Given the description of an element on the screen output the (x, y) to click on. 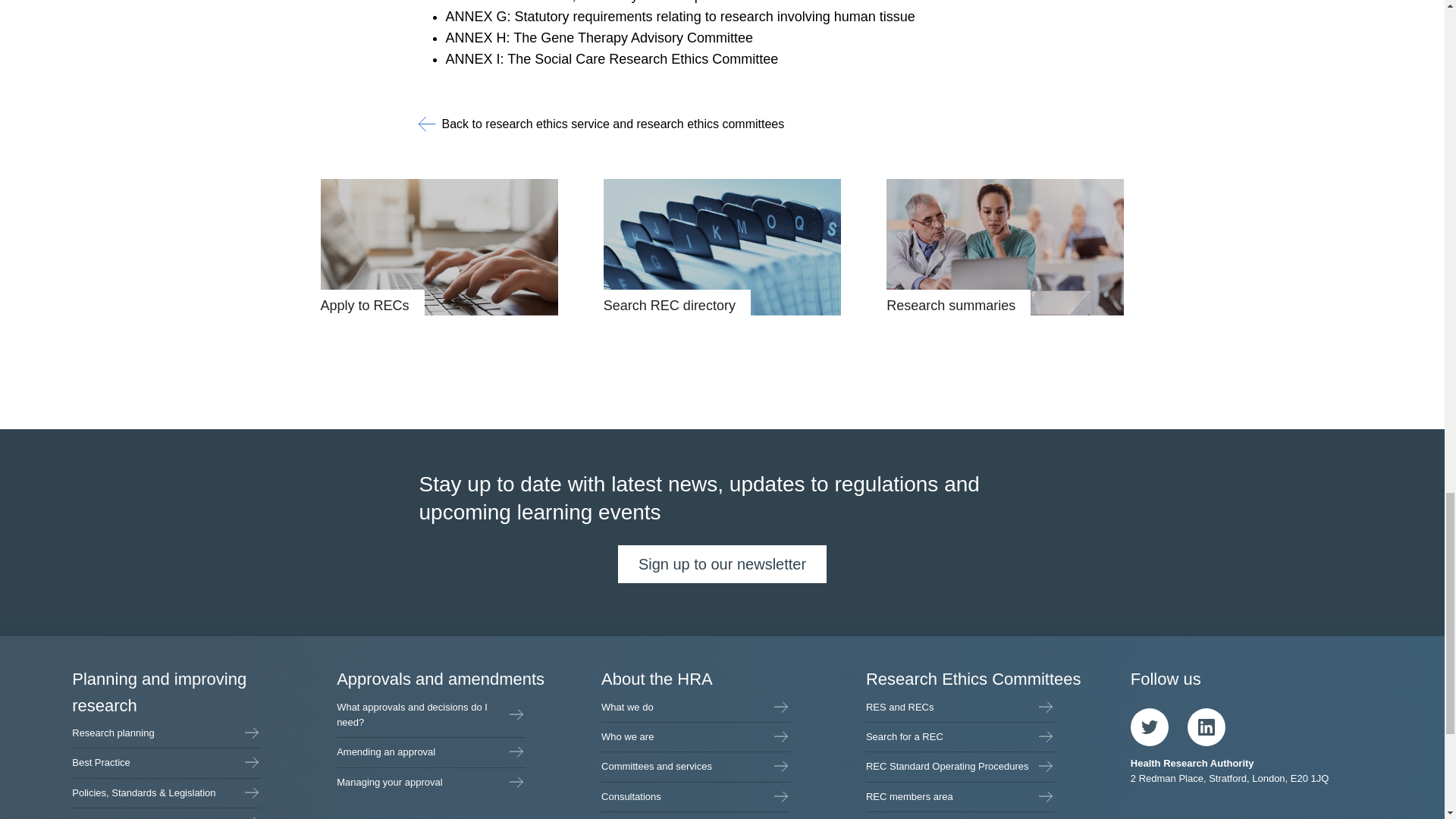
Sign up to our newsletter (722, 564)
Research planning (165, 733)
What approvals and decisions do I need? (430, 714)
Research summaries (1005, 247)
Sign up to our newsletter (722, 564)
Best Practice (165, 762)
Amending an approval (430, 751)
Managing your approval (430, 782)
Learning (165, 813)
Apply to RECs (438, 247)
Search REC directory (722, 247)
